Given the description of an element on the screen output the (x, y) to click on. 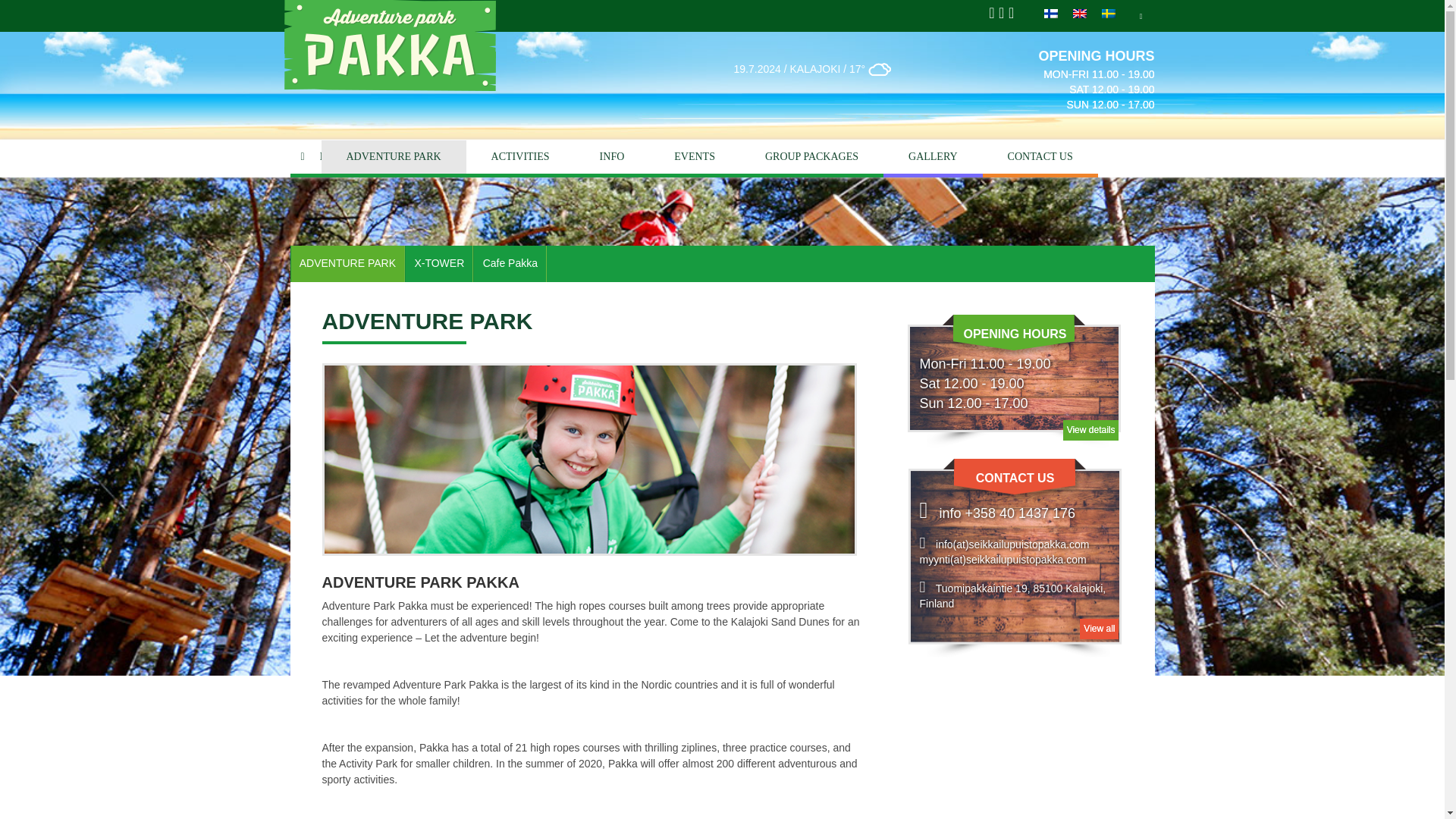
HOME (304, 158)
ACTIVITIES (520, 158)
ADVENTURE PARK (393, 158)
Suomi (1050, 13)
Svenska (1108, 13)
GROUP PACKAGES (811, 158)
EVENTS (694, 158)
English (1079, 13)
INFO (612, 158)
